Given the description of an element on the screen output the (x, y) to click on. 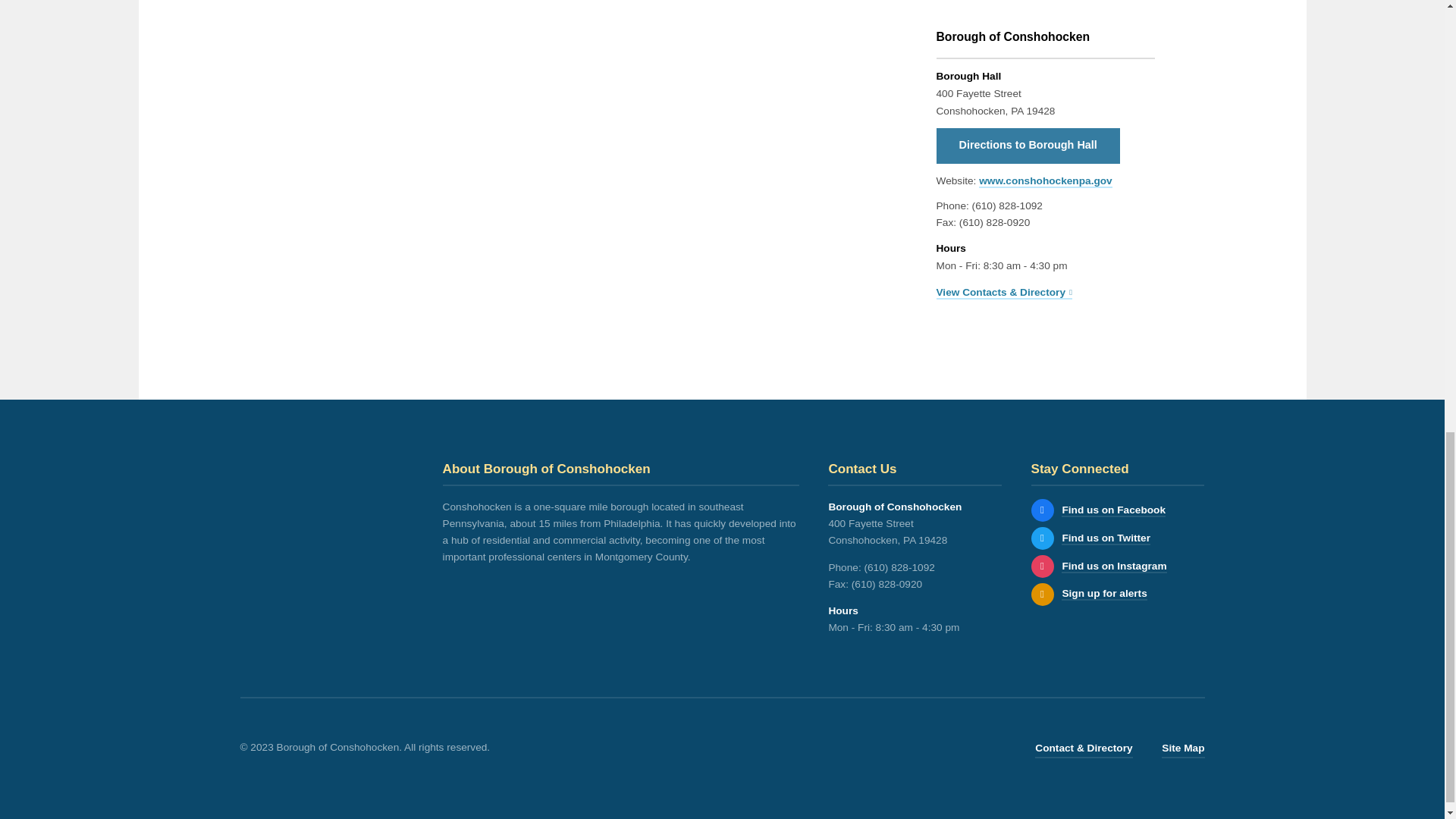
Find us on Facebook (1113, 510)
Find us on Instagram (1113, 566)
Find us on Instagram (1042, 566)
Find us on Facebook (1042, 509)
Find us on Twitter (1042, 538)
Find us on Twitter (1105, 538)
